Given the description of an element on the screen output the (x, y) to click on. 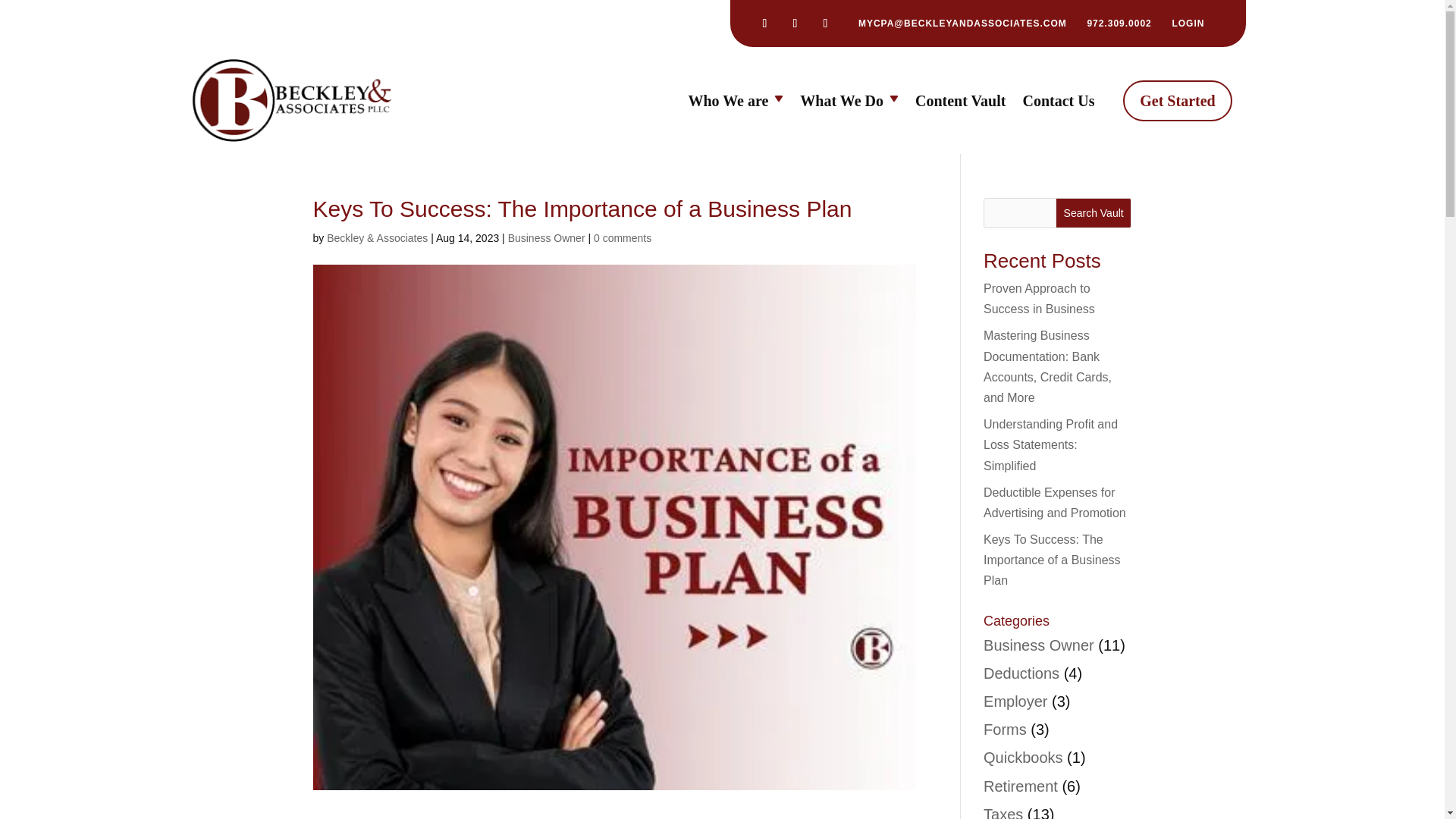
972.309.0002 (1118, 23)
LOGIN (1188, 23)
Who We are (735, 103)
What We Do (848, 103)
Content Vault (960, 103)
Follow on Twitter (824, 23)
Follow on Facebook (794, 23)
Follow on LinkedIn (764, 23)
logo (290, 100)
Get Started (1176, 100)
